Given the description of an element on the screen output the (x, y) to click on. 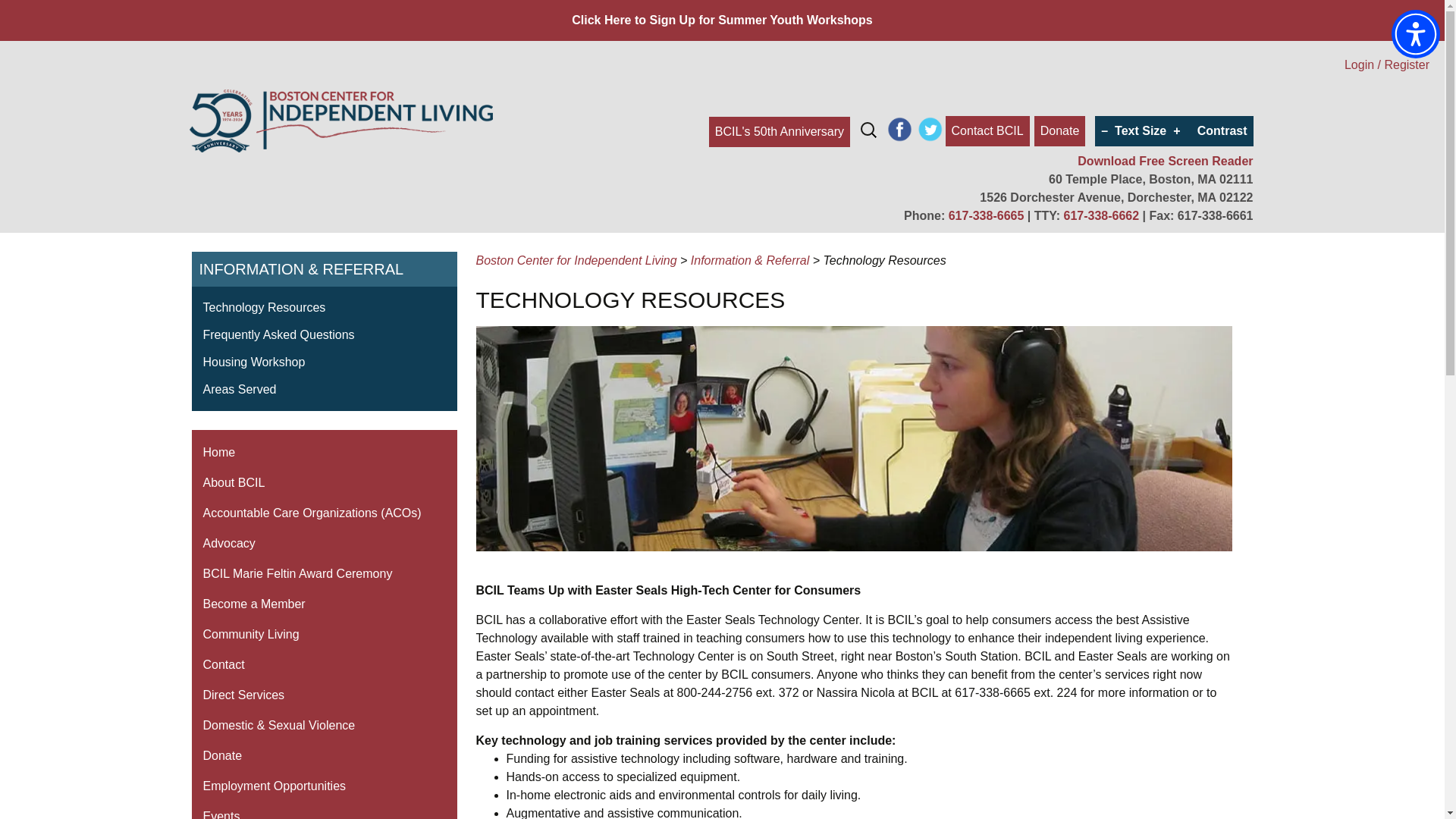
About BCIL (323, 482)
Click Here to Sign Up for Summer Youth Workshops (722, 19)
Home (323, 452)
Employment Opportunities (323, 786)
Areas Served (239, 389)
Become a Member (323, 603)
Contact (323, 665)
617-338-6662 (1100, 215)
Download Free Screen Reader (1164, 160)
Community Living (323, 634)
Frequently Asked Questions (279, 334)
Advocacy (323, 543)
Accessibility Menu (1415, 33)
Search (18, 15)
